Given the description of an element on the screen output the (x, y) to click on. 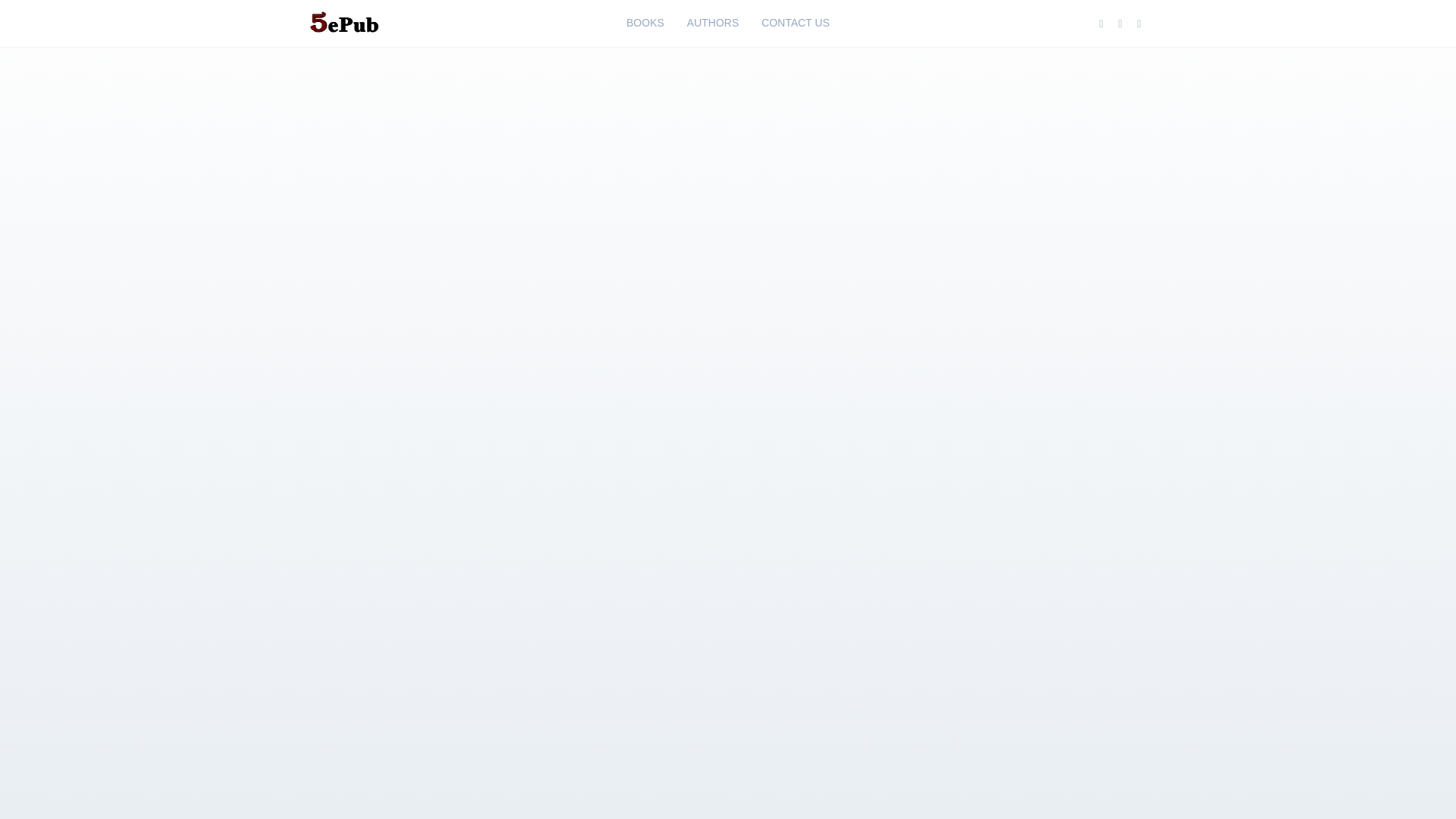
BOOKS (644, 22)
AUTHORS (712, 22)
CONTACT US (795, 22)
